Given the description of an element on the screen output the (x, y) to click on. 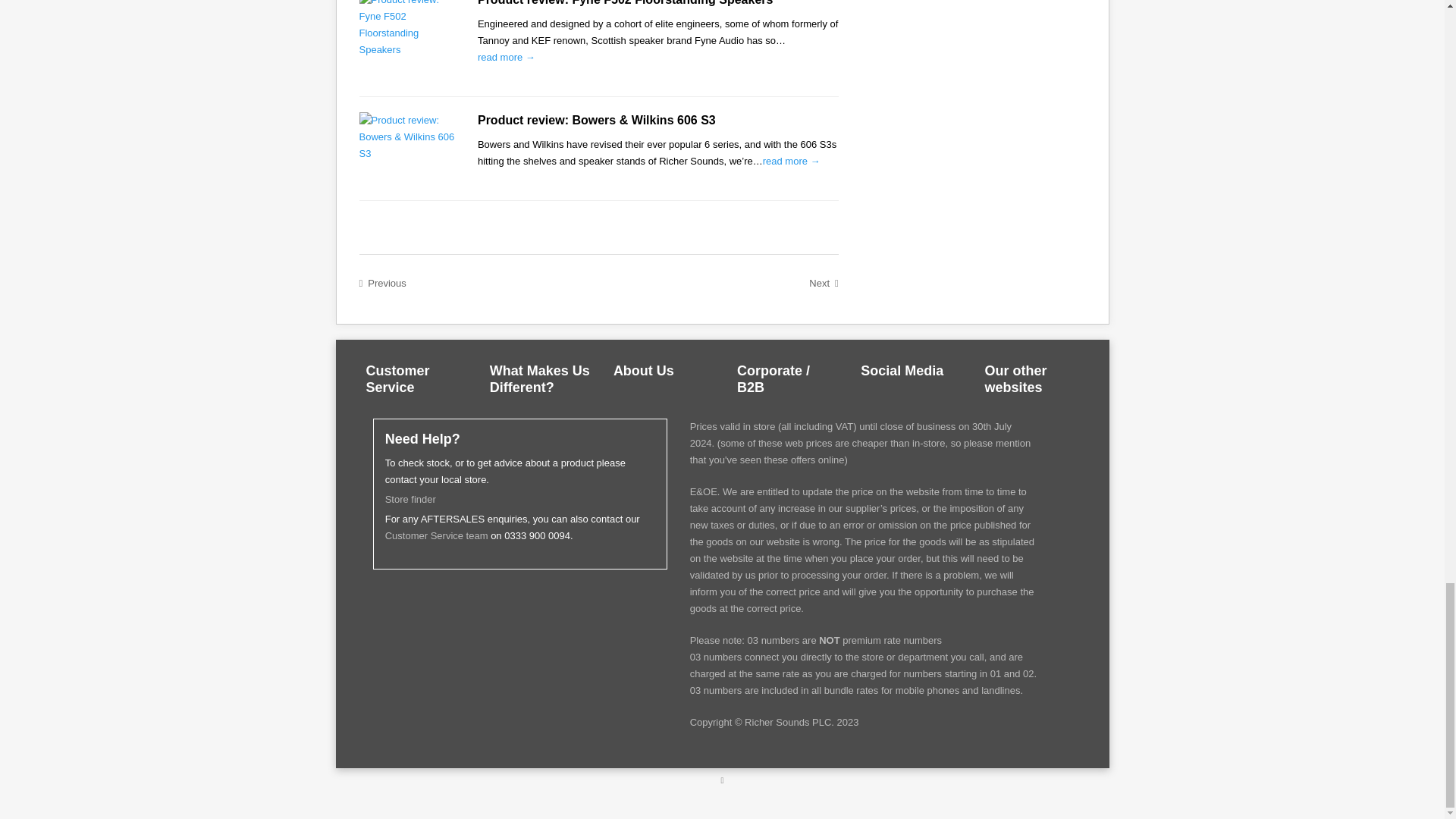
Previous (382, 283)
Product review: Fyne F502 Floorstanding Speakers (506, 57)
Next (823, 283)
Product review: Fyne F502 Floorstanding Speakers (625, 2)
Product review: Fyne F502 Floorstanding Speakers (406, 29)
Product review: Fyne F502 Floorstanding Speakers (625, 2)
